Given the description of an element on the screen output the (x, y) to click on. 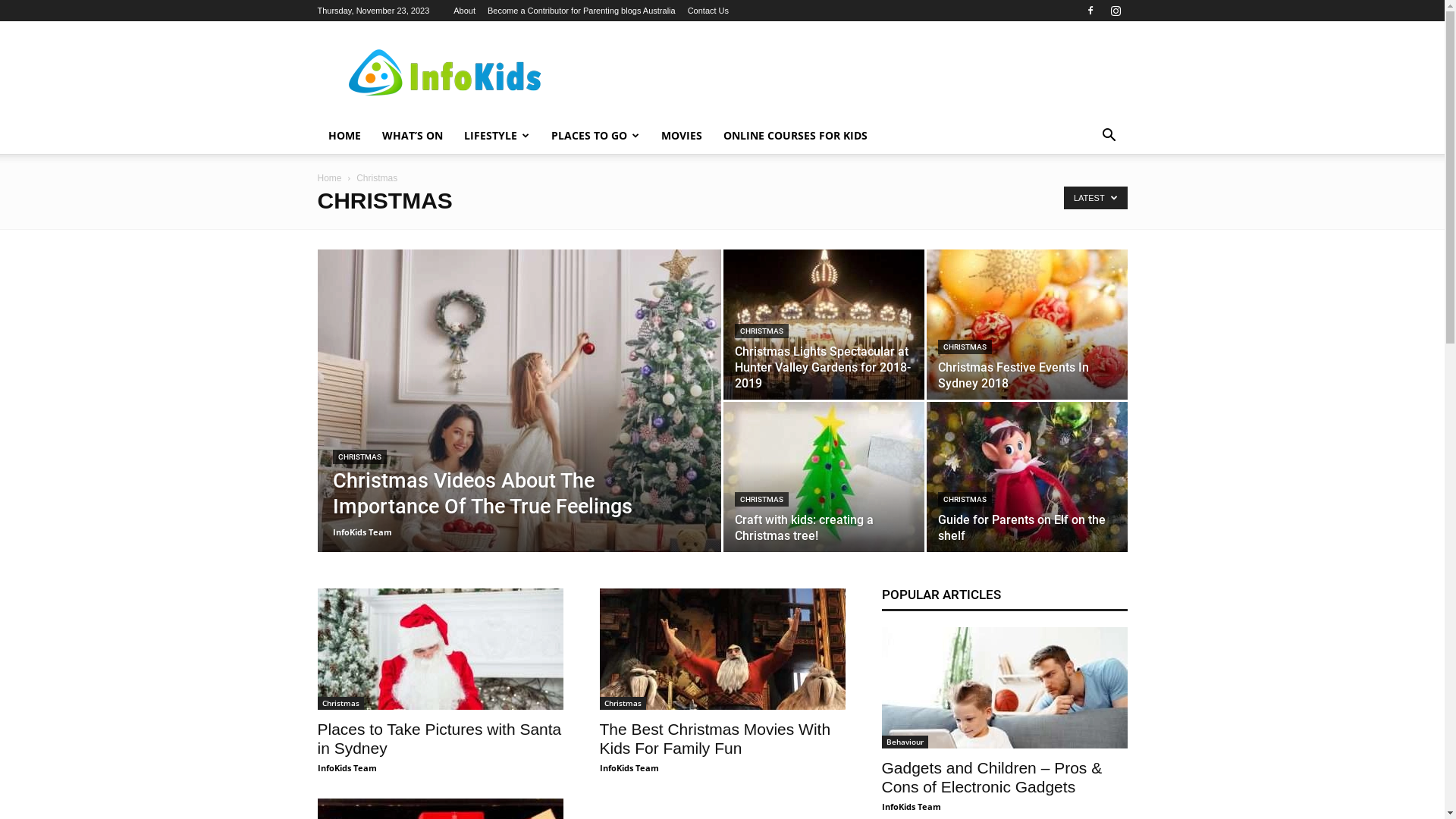
Christmas Videos About The Importance Of The True Feelings Element type: hover (518, 424)
LIFESTYLE Element type: text (496, 135)
Become a Contributor for Parenting blogs Australia Element type: text (581, 10)
Instagram Element type: hover (1115, 10)
The Best Christmas Movies With Kids For Family Fun Element type: text (714, 738)
Home Element type: text (328, 177)
Craft with kids: creating a Christmas tree! Element type: hover (823, 476)
Guide for Parents on Elf on the shelf Element type: text (1020, 527)
CHRISTMAS Element type: text (760, 330)
CHRISTMAS Element type: text (964, 499)
PLACES TO GO Element type: text (594, 135)
InfoKids Team Element type: text (910, 806)
Guide for Parents on Elf on the shelf Element type: hover (1026, 476)
Christmas Festive Events In Sydney 2018 Element type: text (1012, 375)
InfoKids Team Element type: text (346, 767)
Craft with kids: creating a Christmas tree! Element type: text (803, 527)
Christmas Element type: text (622, 702)
The Best Christmas Movies With Kids For Family Fun Element type: hover (721, 648)
CHRISTMAS Element type: text (760, 499)
CHRISTMAS Element type: text (358, 456)
About Element type: text (464, 10)
CHRISTMAS Element type: text (964, 346)
InfoKids Team Element type: text (628, 767)
InfoKids Team Element type: text (361, 531)
Behaviour Element type: text (904, 741)
MOVIES Element type: text (681, 135)
Places to Take Pictures with Santa in Sydney Element type: hover (439, 648)
HOME Element type: text (343, 135)
Places to Take Pictures with Santa in Sydney Element type: text (438, 738)
Contact Us Element type: text (707, 10)
Christmas Videos About The Importance Of The True Feelings Element type: text (481, 493)
Christmas Festive Events In Sydney 2018 Element type: hover (1026, 324)
Facebook Element type: hover (1090, 10)
Christmas Videos About The Importance Of The True Feelings Element type: hover (518, 424)
Christmas Element type: text (339, 702)
ONLINE COURSES FOR KIDS Element type: text (795, 135)
Search Element type: text (1085, 196)
